Given the description of an element on the screen output the (x, y) to click on. 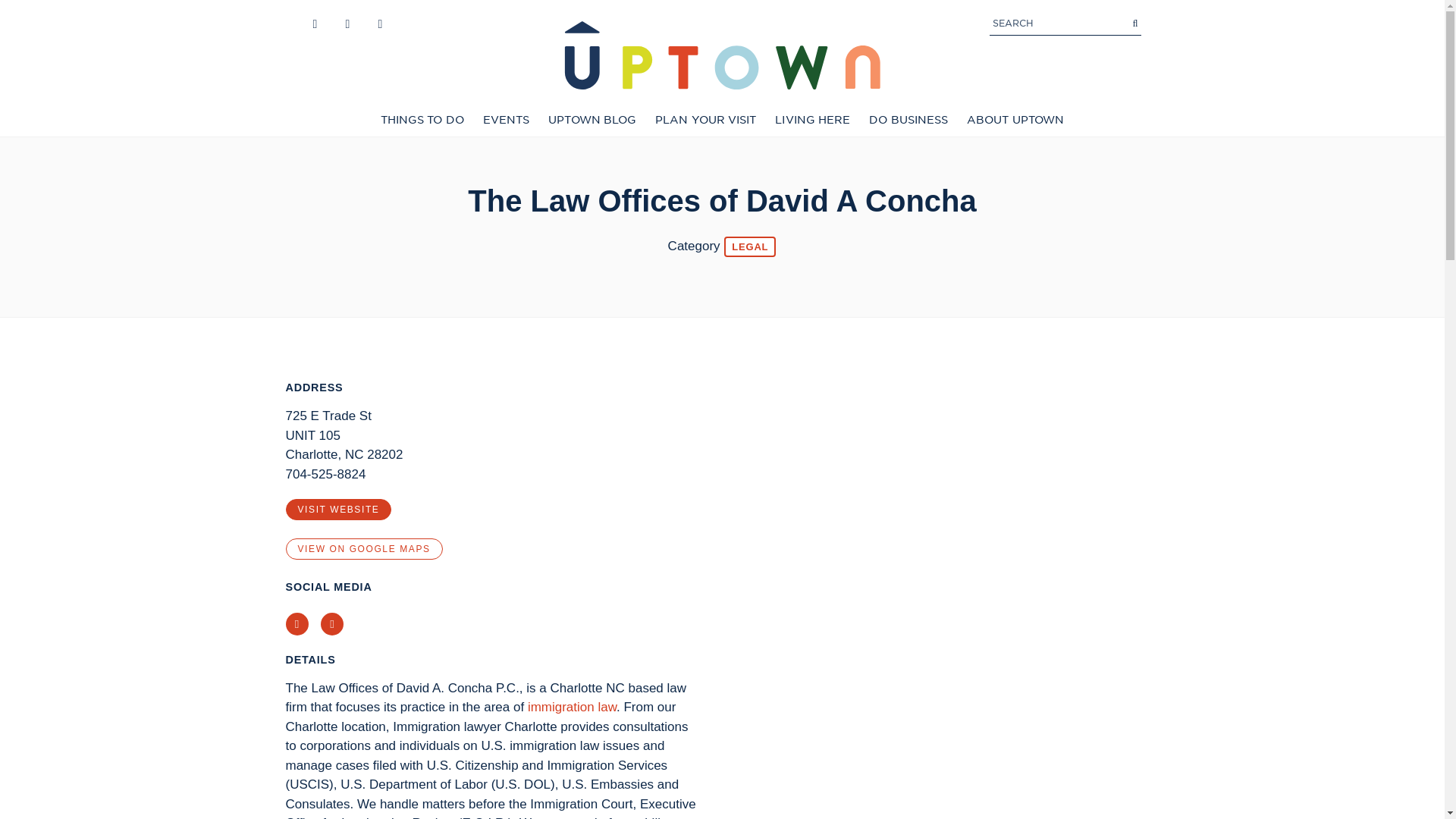
THINGS TO DO (421, 119)
DO BUSINESS (908, 119)
UPTOWN BLOG (591, 119)
EVENTS (506, 119)
PLAN YOUR VISIT (704, 119)
ABOUT UPTOWN (1015, 119)
LIVING HERE (812, 119)
submit (1135, 22)
